Given the description of an element on the screen output the (x, y) to click on. 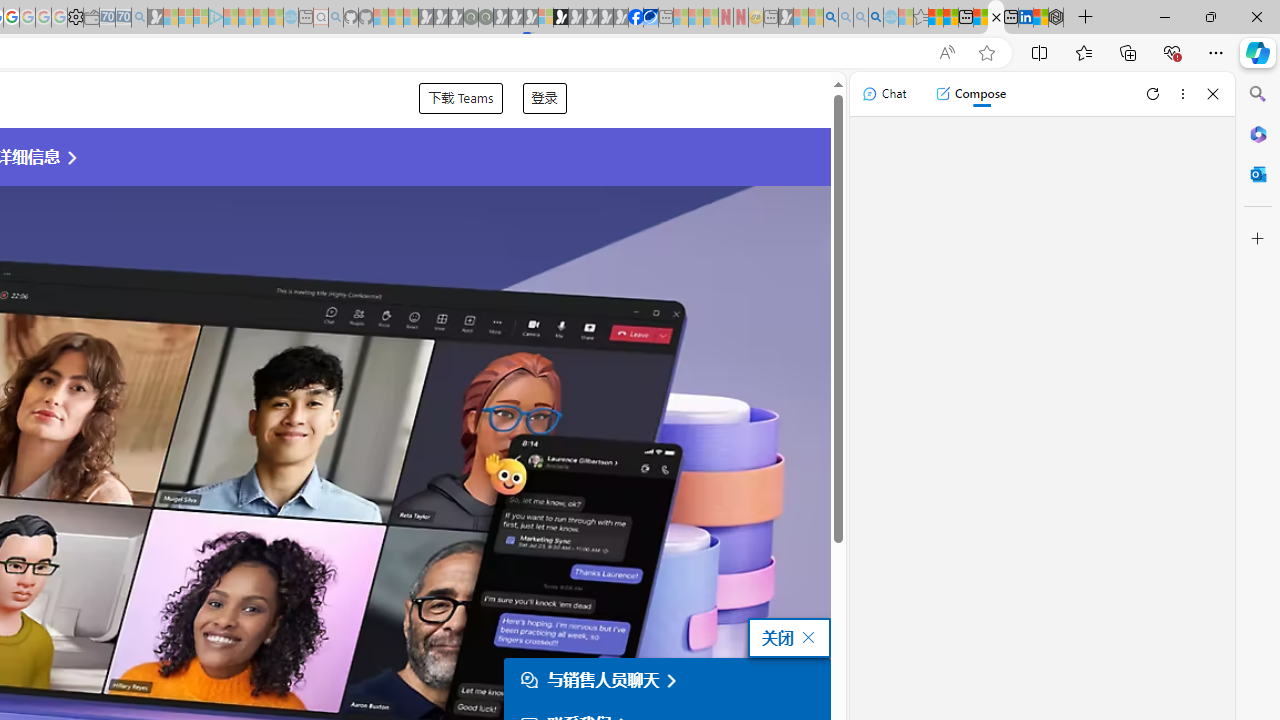
Bing Real Estate - Home sales and rental listings - Sleeping (139, 17)
Home | Sky Blue Bikes - Sky Blue Bikes - Sleeping (291, 17)
Nordace - Summer Adventures 2024 (1055, 17)
Cheap Car Rentals - Save70.com - Sleeping (123, 17)
MSN - Sleeping (786, 17)
Favorites - Sleeping (920, 17)
Close Customize pane (1258, 239)
